Given the description of an element on the screen output the (x, y) to click on. 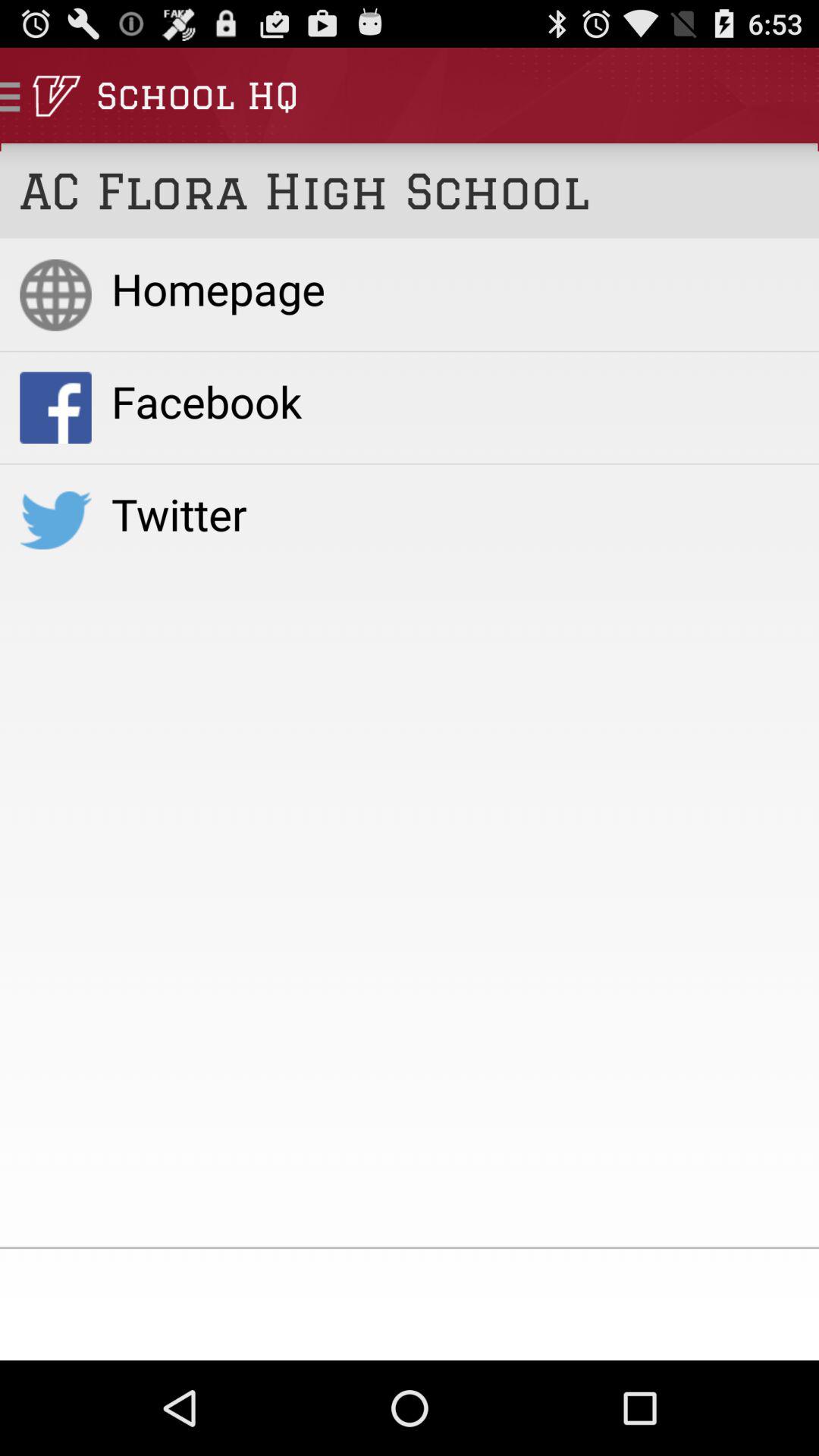
turn off the ac flora high icon (409, 190)
